Given the description of an element on the screen output the (x, y) to click on. 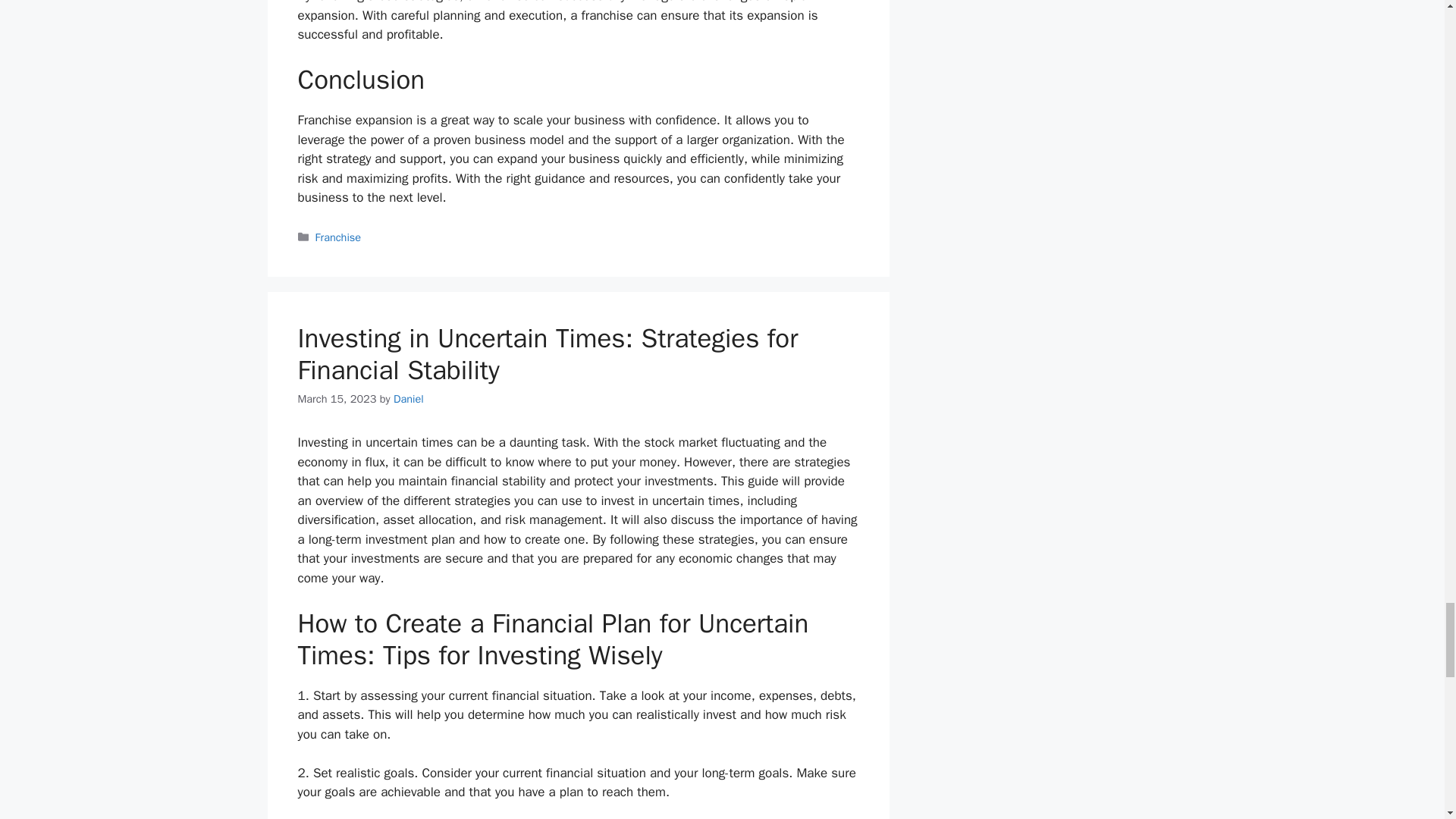
View all posts by Daniel (408, 398)
Daniel (408, 398)
Franchise (338, 237)
